Given the description of an element on the screen output the (x, y) to click on. 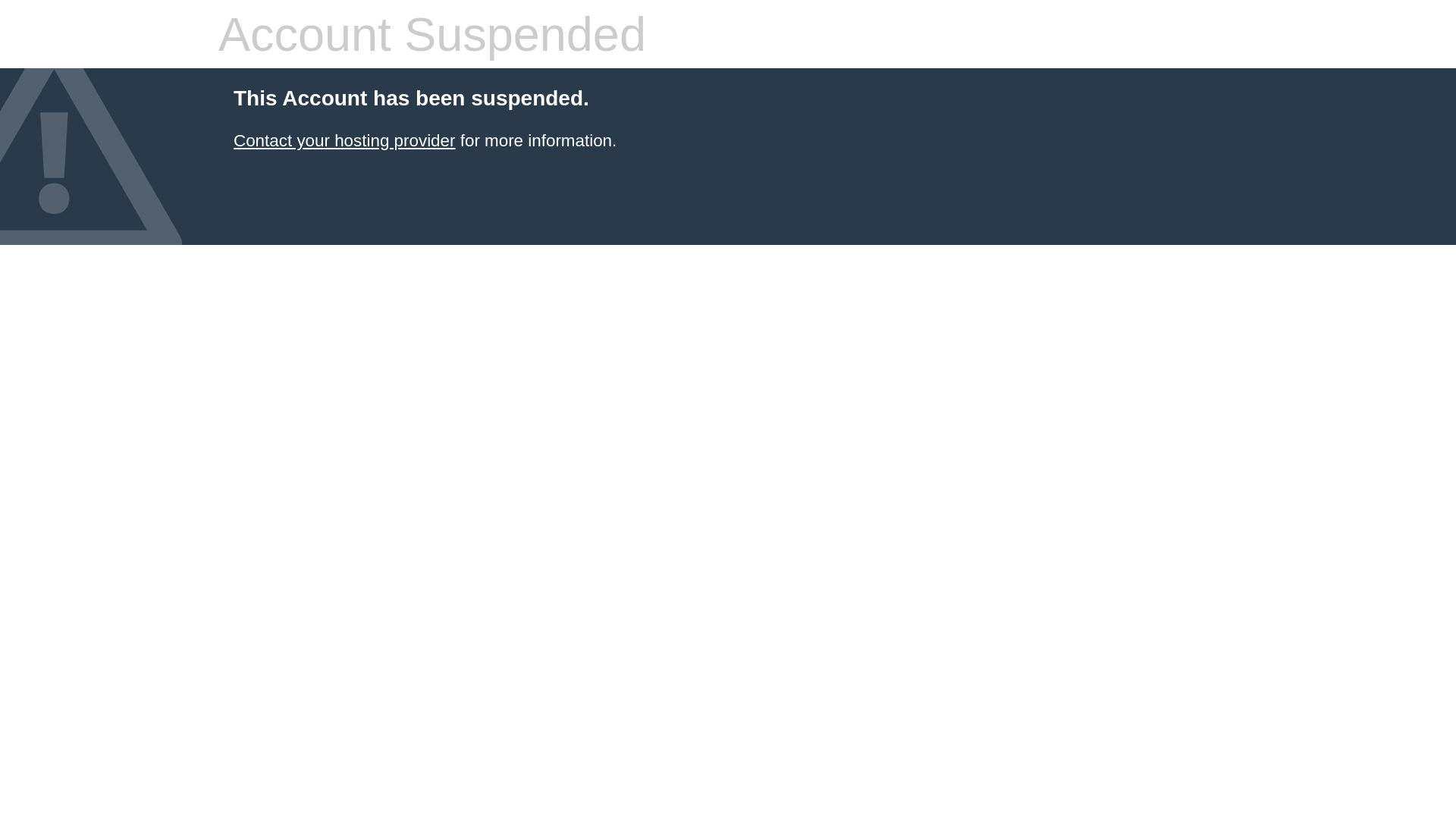
Contact your hosting provider Element type: text (344, 140)
